Given the description of an element on the screen output the (x, y) to click on. 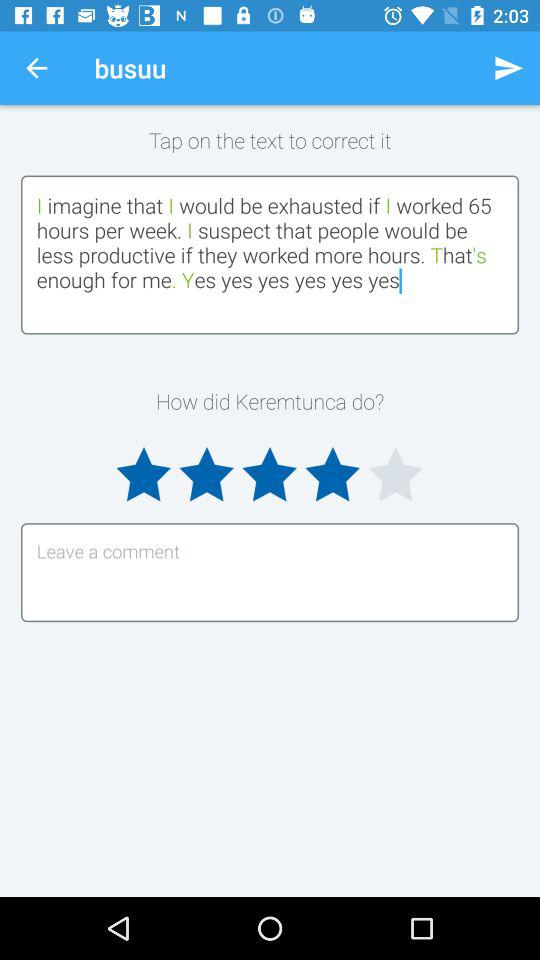
tap icon at the top right corner (508, 67)
